Given the description of an element on the screen output the (x, y) to click on. 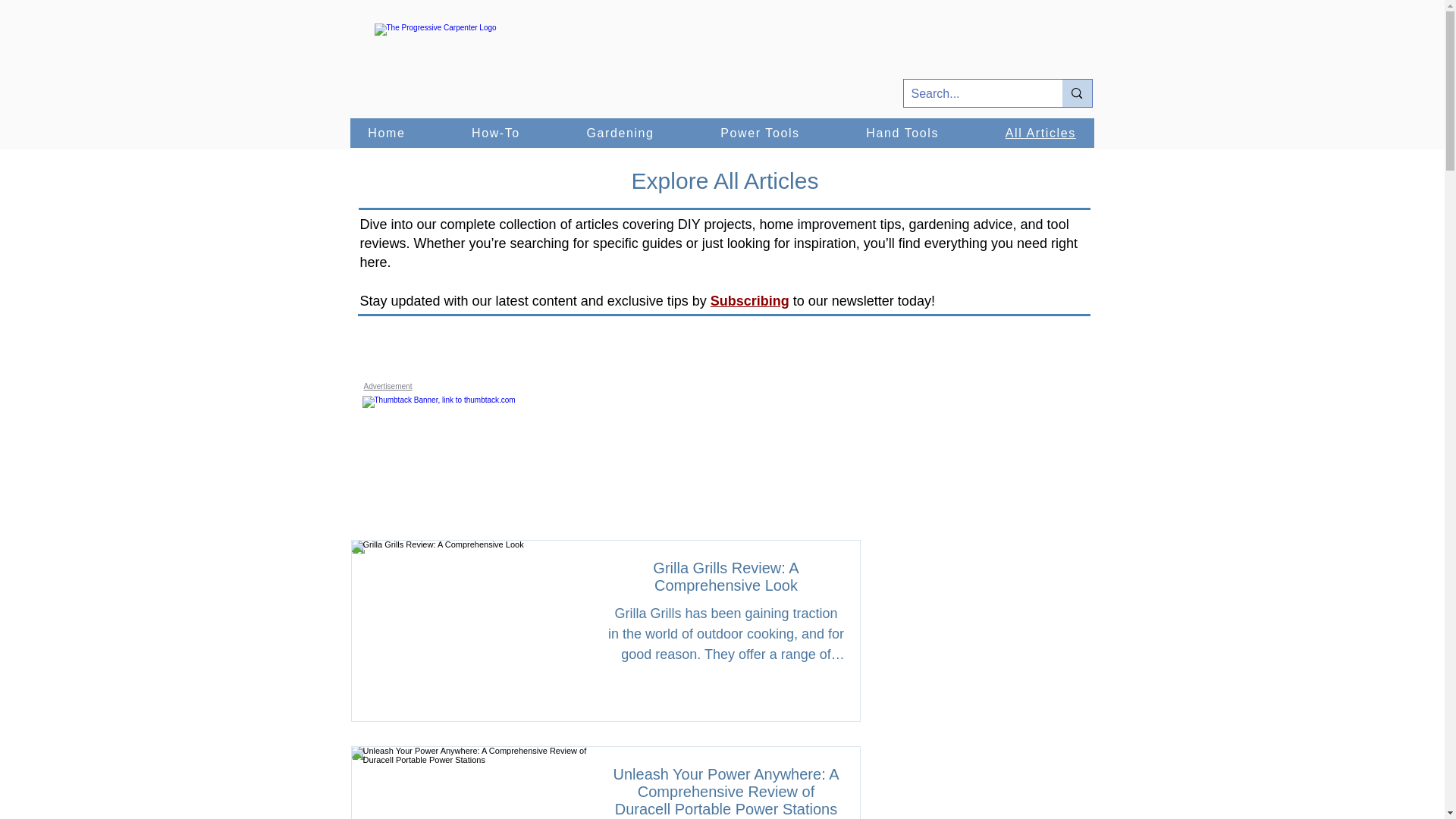
The Progressive Carpenter (470, 66)
Grilla Grills Review: A Comprehensive Look (726, 580)
Hand Tools (902, 132)
How-To (494, 132)
Subscribing (749, 300)
Advertisement (388, 386)
Power Tools (758, 132)
All Articles (1040, 132)
Home (386, 132)
